Given the description of an element on the screen output the (x, y) to click on. 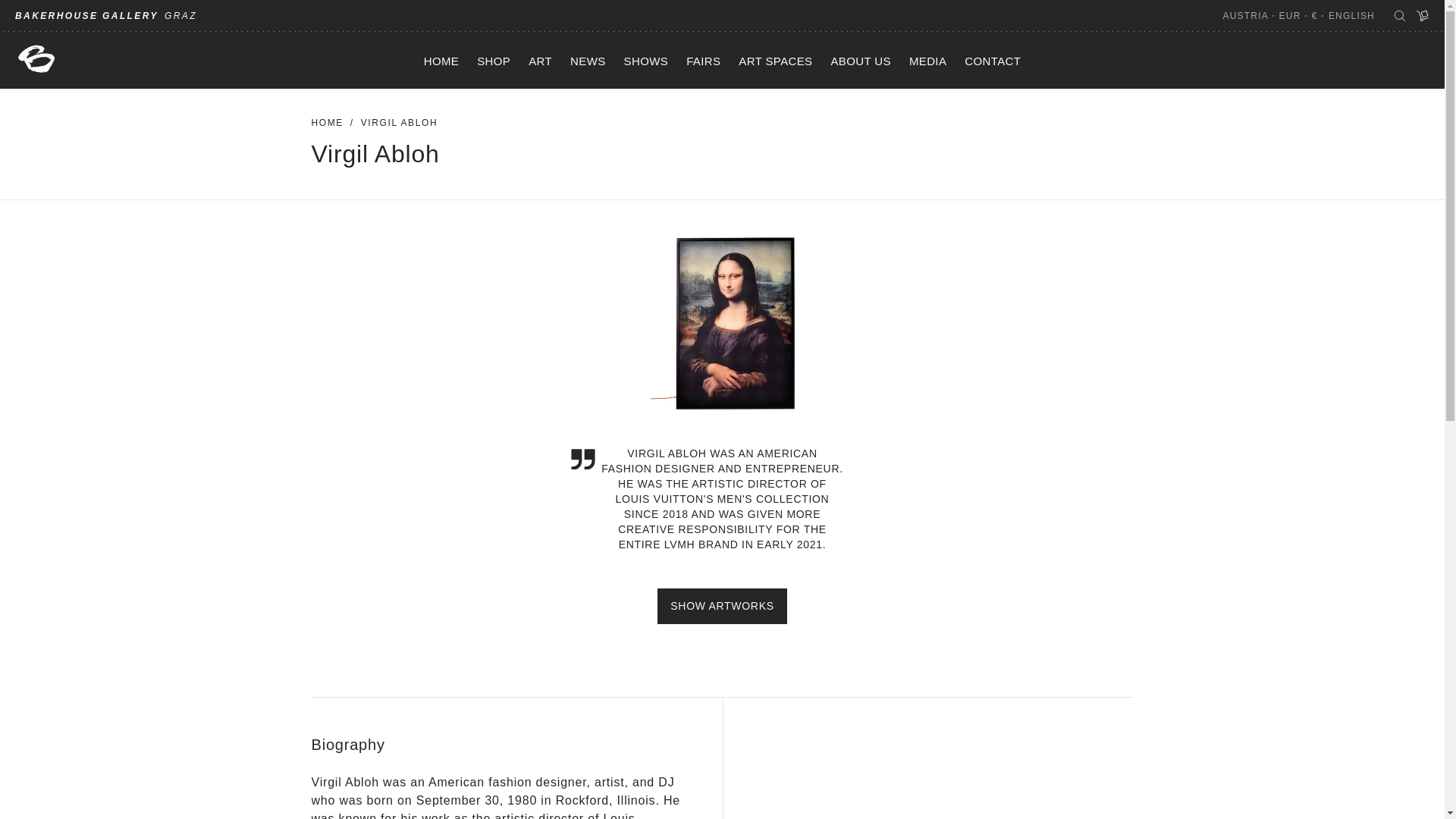
SHOP (493, 59)
Home (326, 122)
HOME (441, 59)
ART (539, 59)
Bakerhouse Gallery (36, 58)
